Given the description of an element on the screen output the (x, y) to click on. 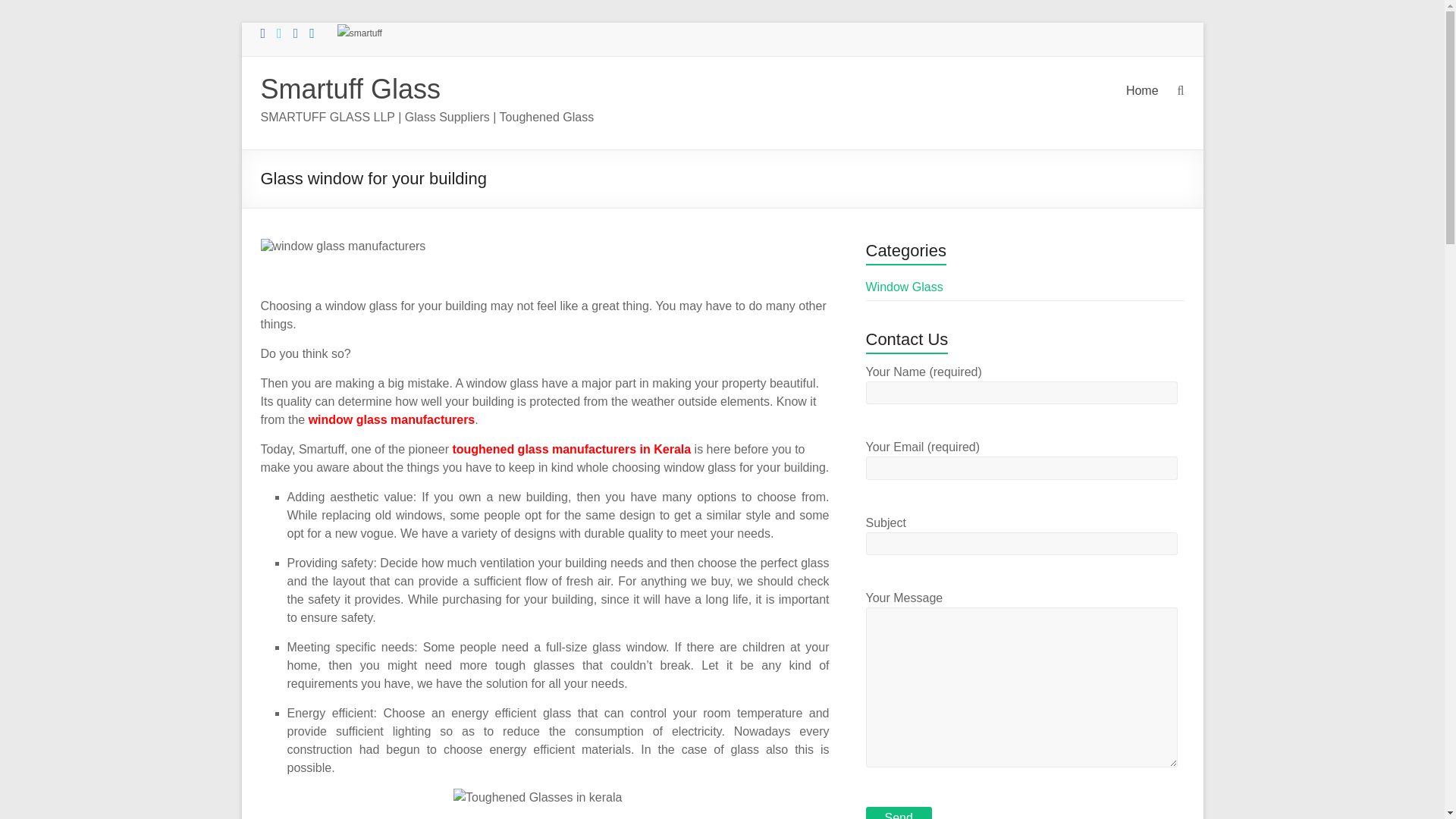
Window Glass (904, 286)
window glass manufacturers (392, 419)
Home (1141, 94)
Smartuff Glass (350, 88)
Send (898, 812)
Smartuff Glass (350, 88)
Send (898, 812)
toughened glass manufacturers in Kerala (570, 449)
Glass window for your building (343, 246)
Home (1141, 94)
